Given the description of an element on the screen output the (x, y) to click on. 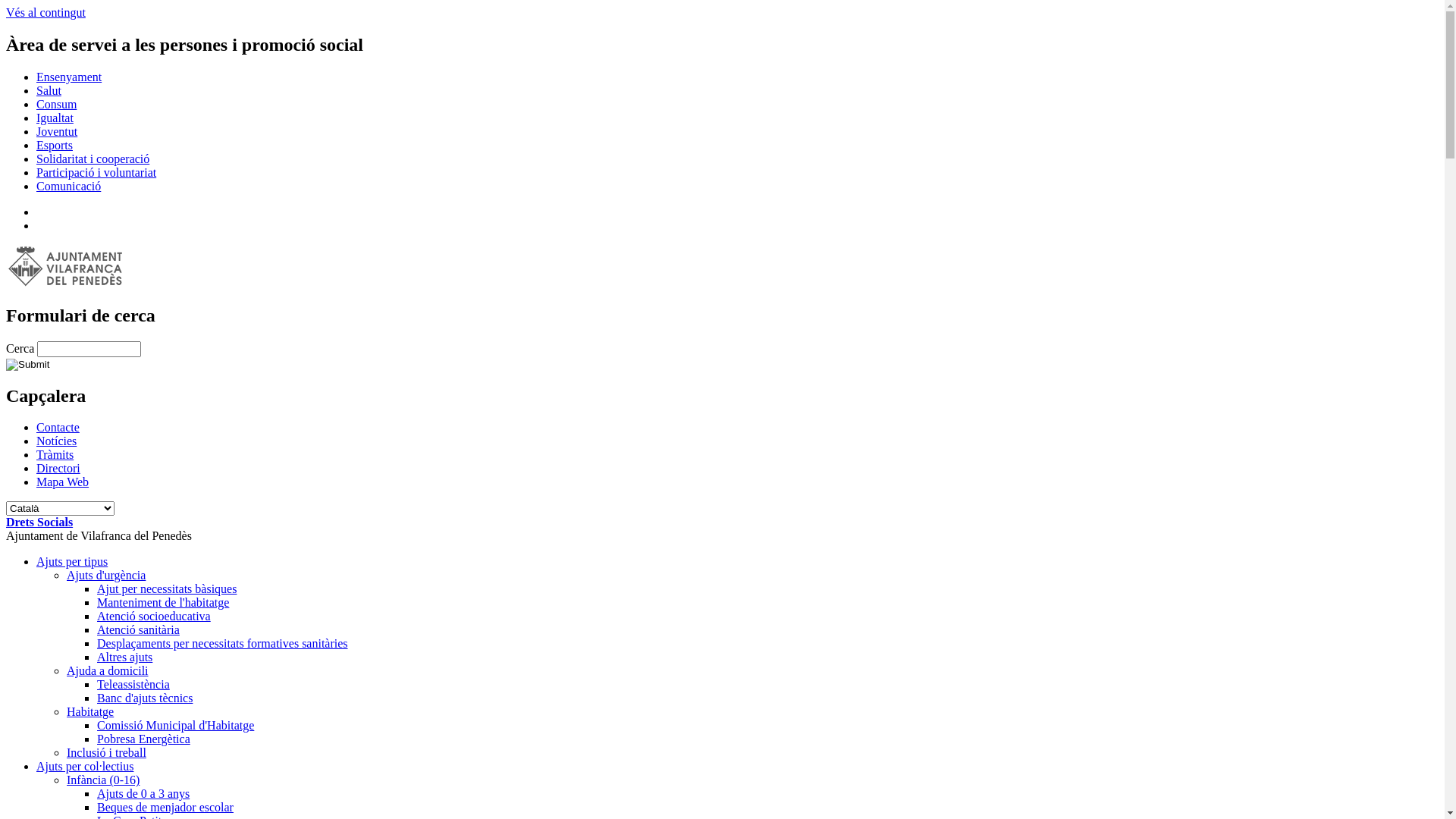
Ensenyament Element type: text (68, 76)
Beques de menjador escolar Element type: text (165, 806)
Manteniment de l'habitatge Element type: text (163, 602)
Joventut Element type: text (56, 131)
Contacte Element type: text (57, 426)
Mapa Web Element type: text (62, 481)
Consum Element type: text (56, 103)
Altres ajuts Element type: text (124, 656)
Esports Element type: text (54, 144)
Drets Socials Element type: text (39, 521)
Ajuts per tipus Element type: text (71, 561)
Directori Element type: text (58, 467)
Igualtat Element type: text (54, 117)
Ajuda a domicili Element type: text (107, 670)
Salut Element type: text (48, 90)
Habitatge Element type: text (89, 711)
Ajuts de 0 a 3 anys Element type: text (143, 793)
